Given the description of an element on the screen output the (x, y) to click on. 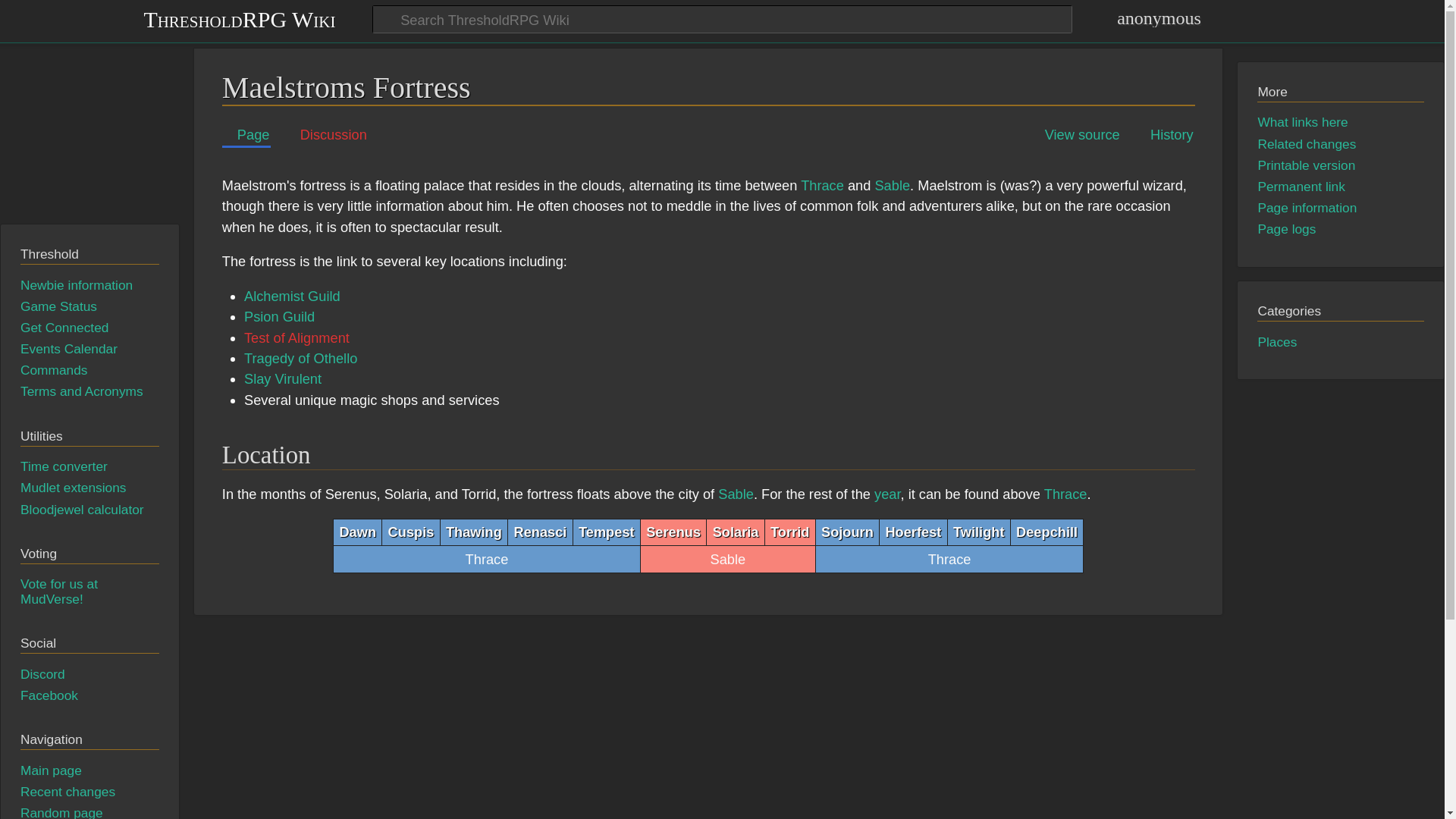
Alchemist Guild (292, 295)
Terms and Acronyms (81, 391)
Discord (42, 673)
Page (246, 134)
Search (998, 22)
Sable City (735, 494)
Vote for us at MudVerse! (58, 591)
year (887, 494)
View source (1075, 134)
Slay Virulent (282, 378)
